Given the description of an element on the screen output the (x, y) to click on. 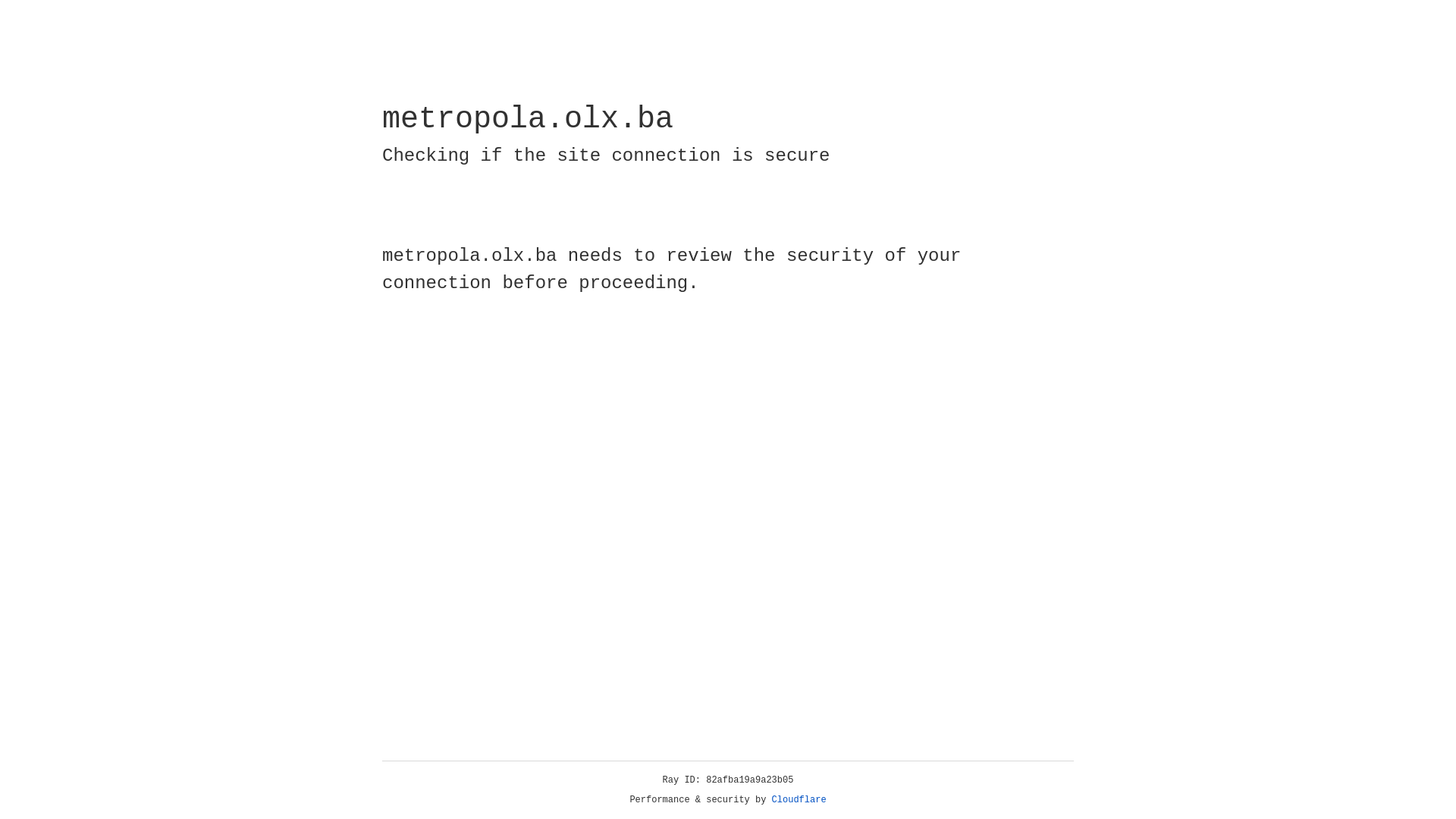
Cloudflare Element type: text (798, 799)
